Given the description of an element on the screen output the (x, y) to click on. 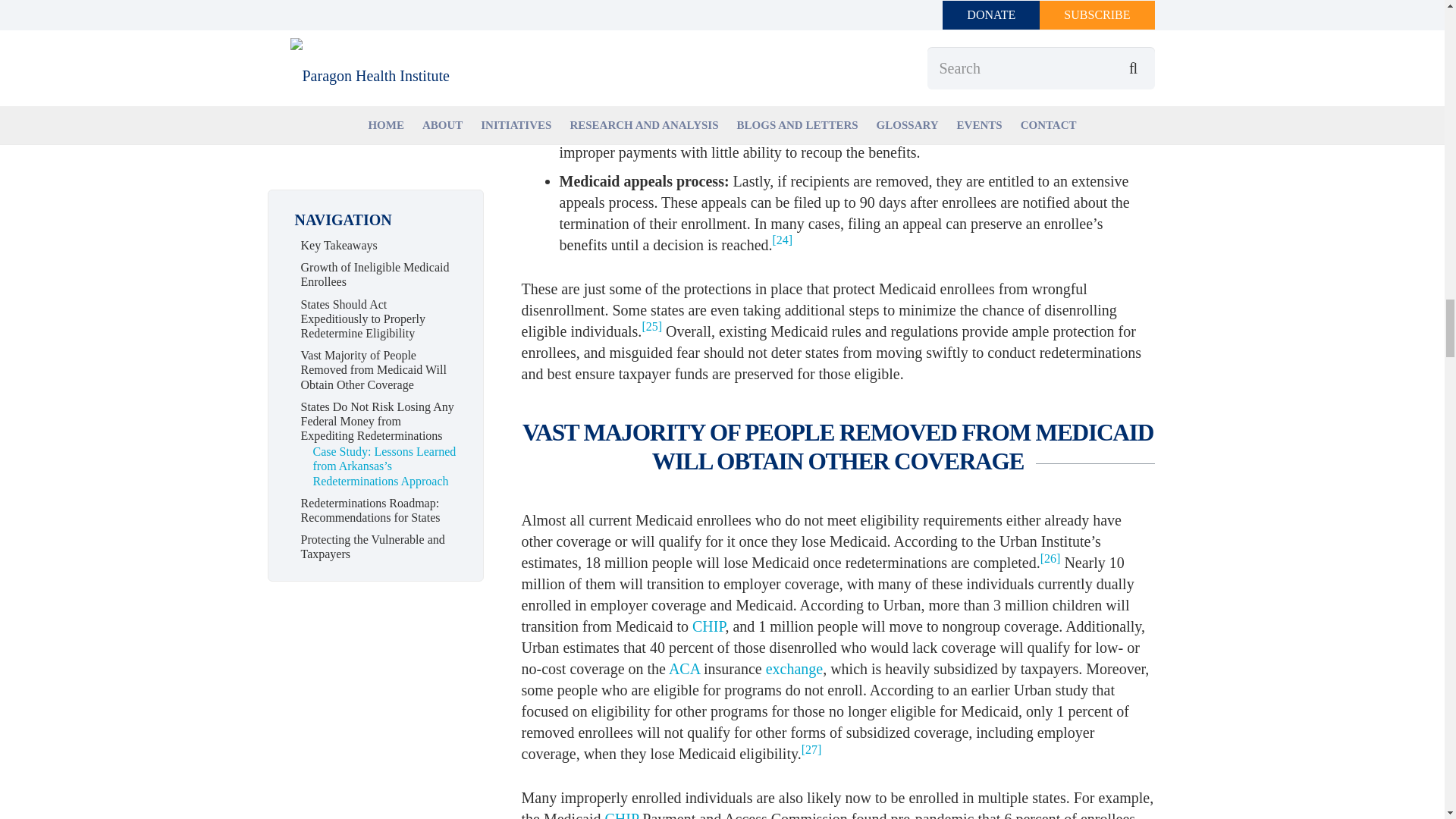
22 (1120, 19)
24 (783, 239)
25 (652, 326)
23 (944, 61)
26 (1051, 558)
27 (812, 749)
